Given the description of an element on the screen output the (x, y) to click on. 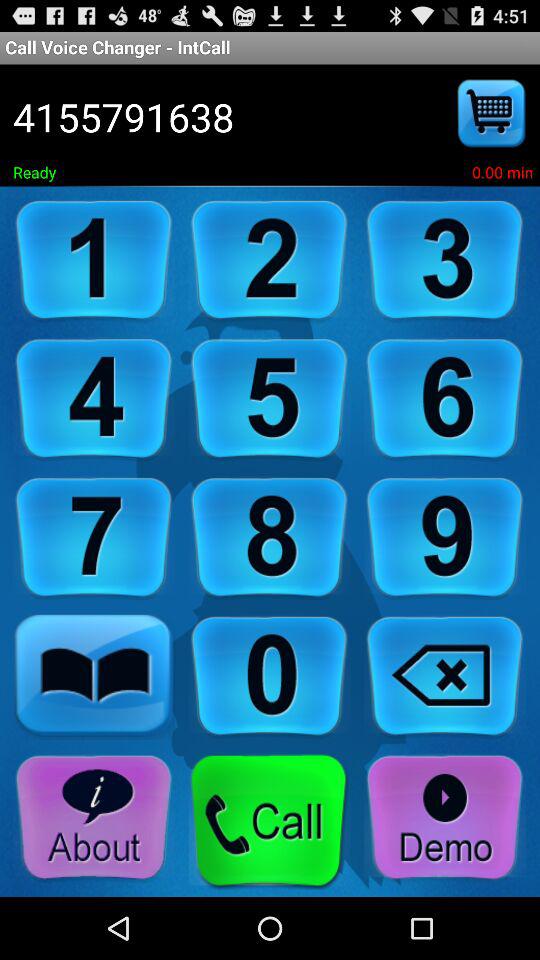
enter the number one (94, 260)
